Given the description of an element on the screen output the (x, y) to click on. 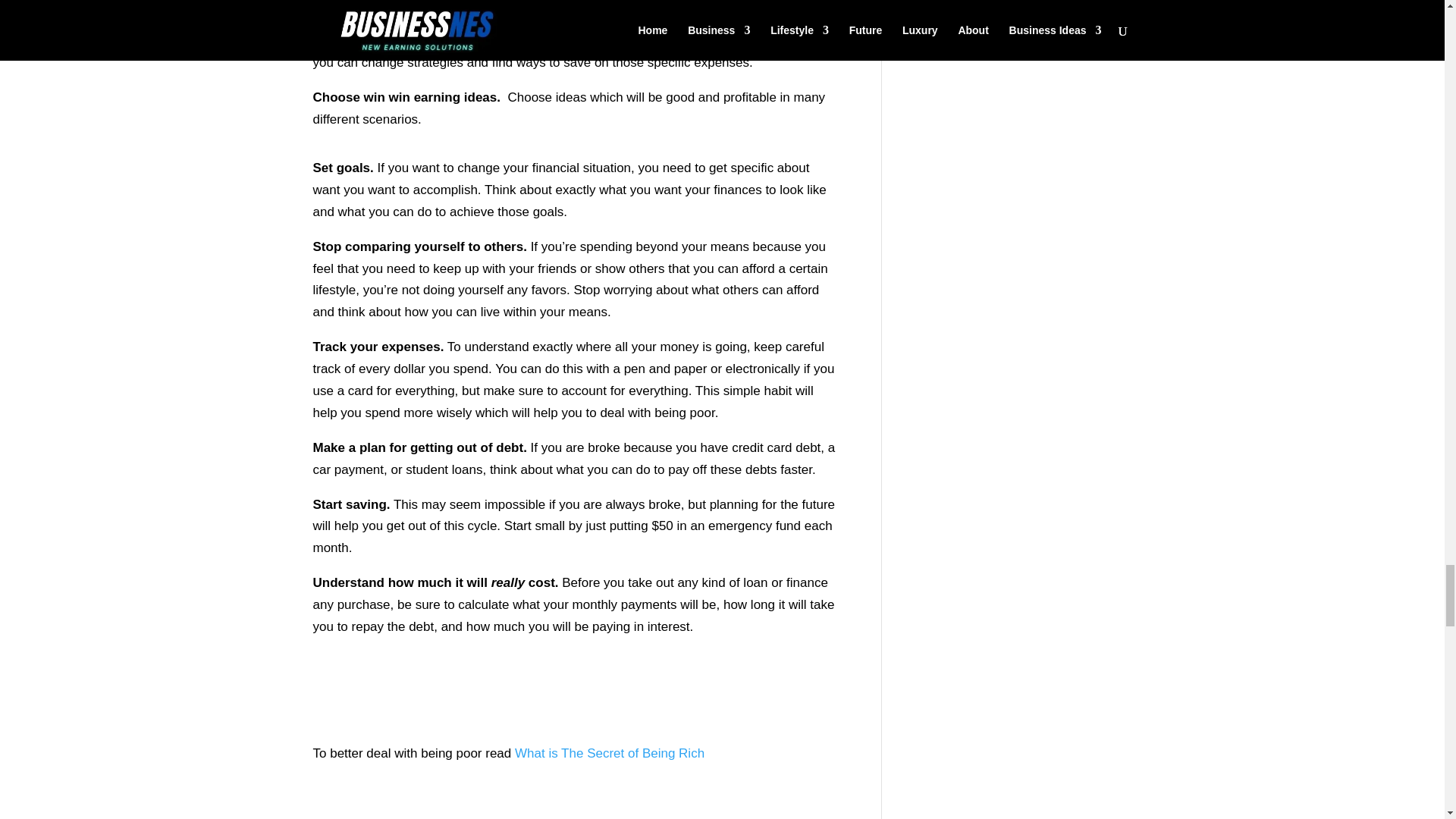
Spend Money Wisely (539, 412)
What is The Secret of Being Rich (609, 753)
